Given the description of an element on the screen output the (x, y) to click on. 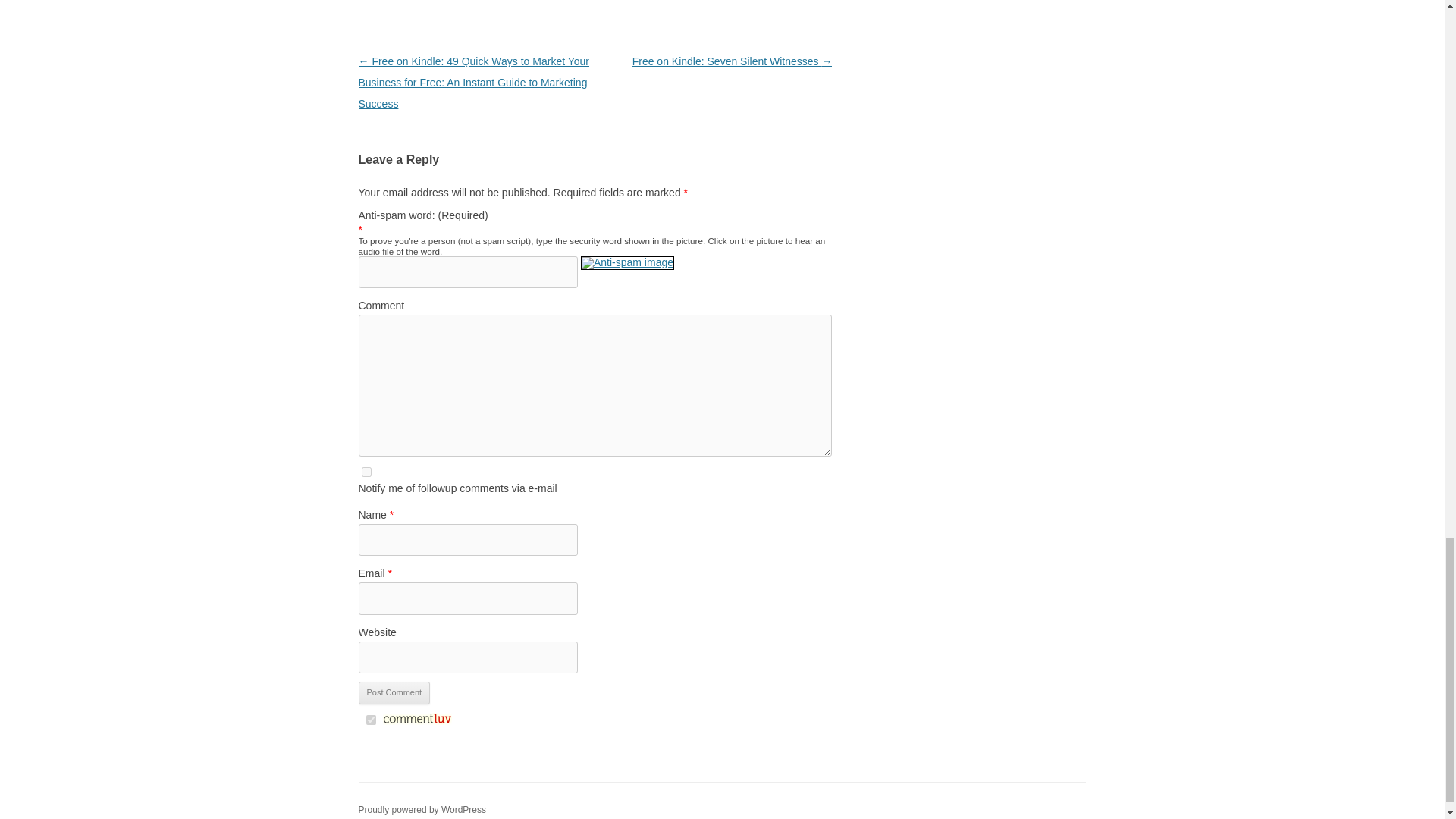
on (370, 719)
Post Comment (393, 692)
Semantic Personal Publishing Platform (422, 809)
CommentLuv is enabled (416, 720)
subscribe (366, 471)
Click to hear an audio file of the anti-spam word (627, 271)
Post Comment (393, 692)
